Given the description of an element on the screen output the (x, y) to click on. 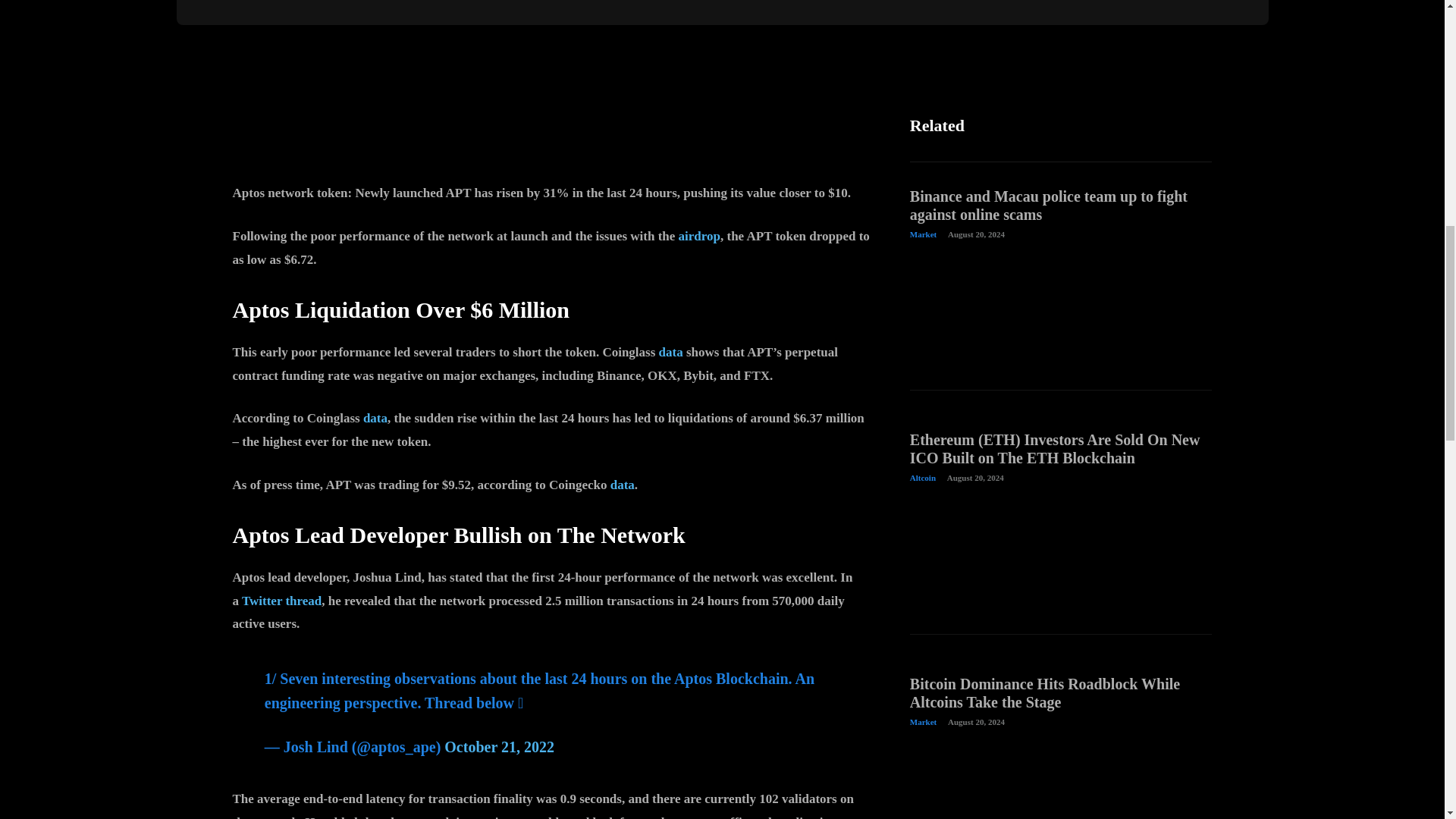
data (374, 418)
data (622, 484)
data (670, 351)
airdrop (699, 236)
